Given the description of an element on the screen output the (x, y) to click on. 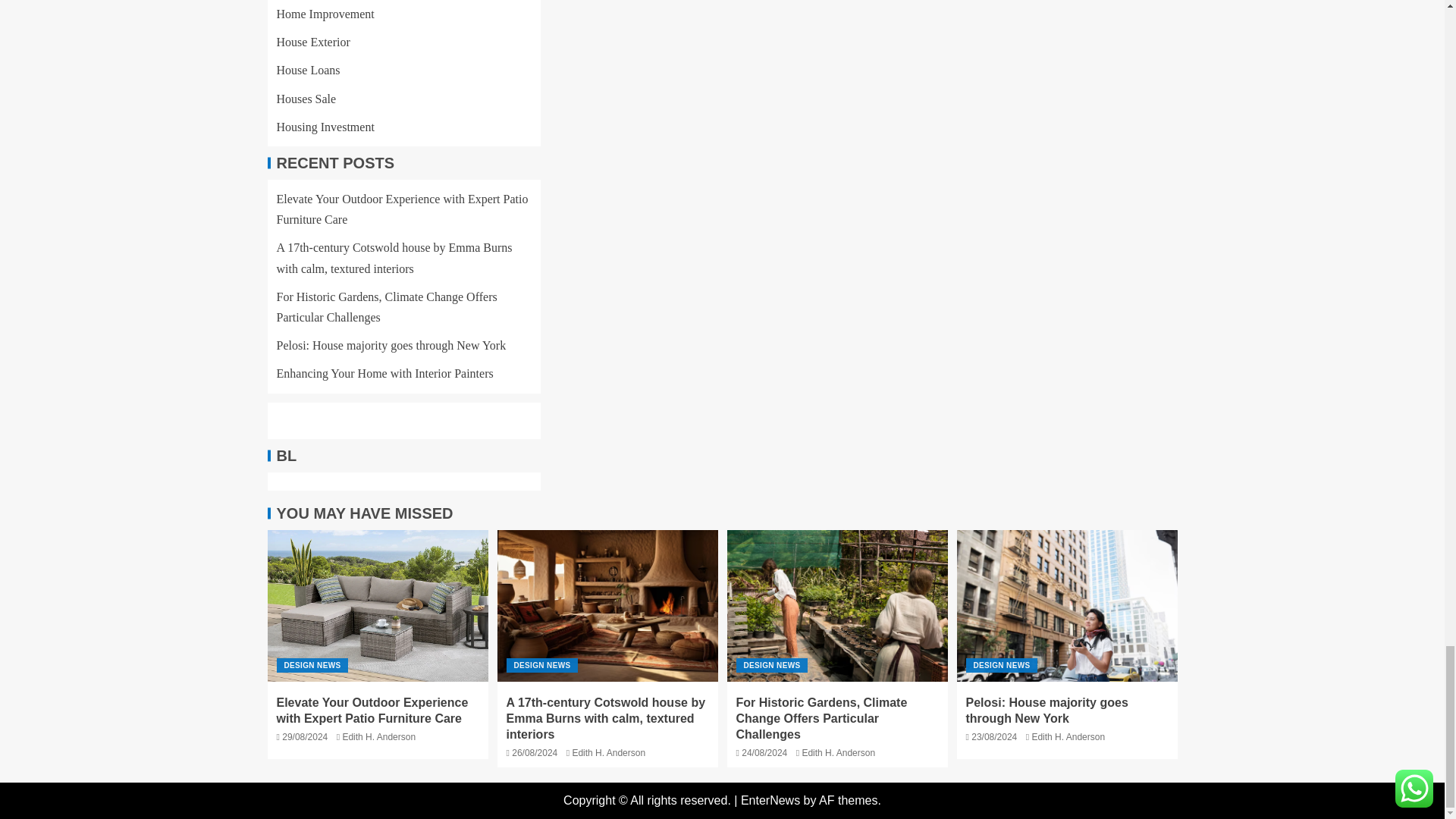
Home Improvement (325, 13)
